Given the description of an element on the screen output the (x, y) to click on. 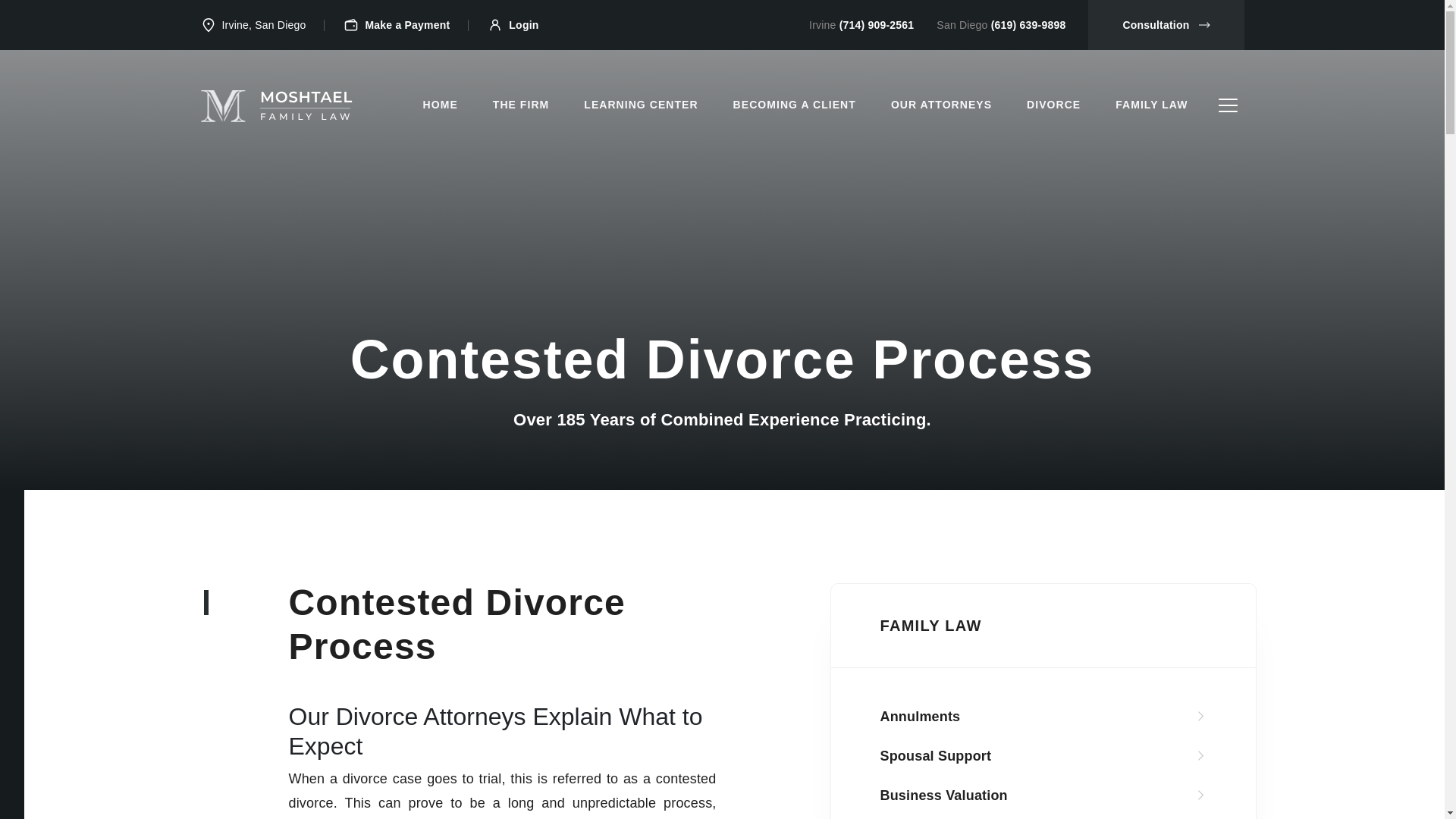
THE FIRM (521, 105)
OUR ATTORNEYS (941, 105)
HOME (440, 105)
Make a Payment (407, 24)
Login (523, 24)
Consultation (1165, 24)
BECOMING A CLIENT (793, 105)
LEARNING CENTER (640, 105)
